Given the description of an element on the screen output the (x, y) to click on. 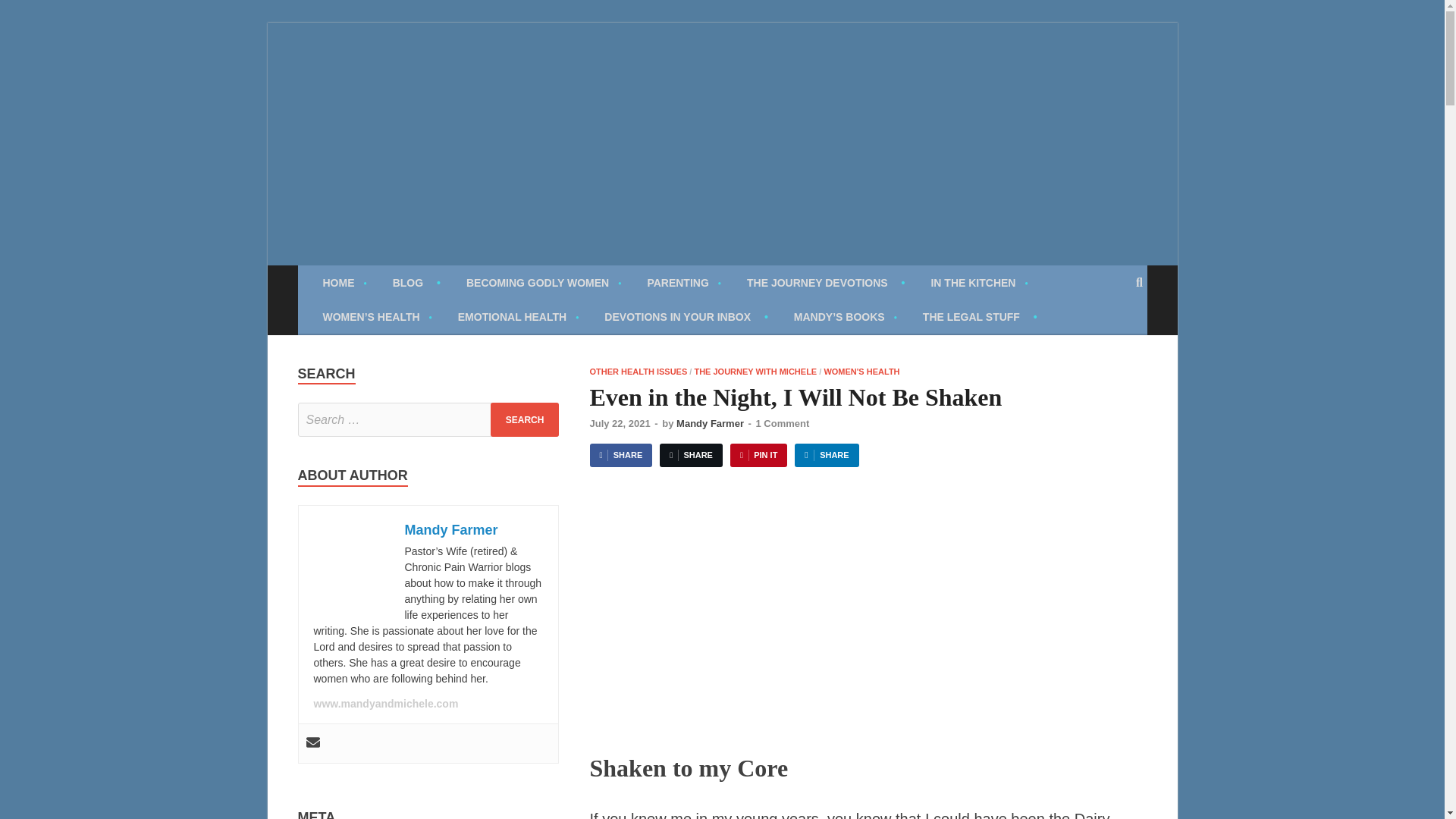
IN THE KITCHEN (979, 282)
Mandy and Michele (433, 73)
BECOMING GODLY WOMEN (542, 282)
BLOG (416, 282)
HOME (343, 282)
THE JOURNEY DEVOTIONS (825, 282)
Search (524, 419)
Search (524, 419)
PARENTING (683, 282)
EMOTIONAL HEALTH (518, 316)
